Given the description of an element on the screen output the (x, y) to click on. 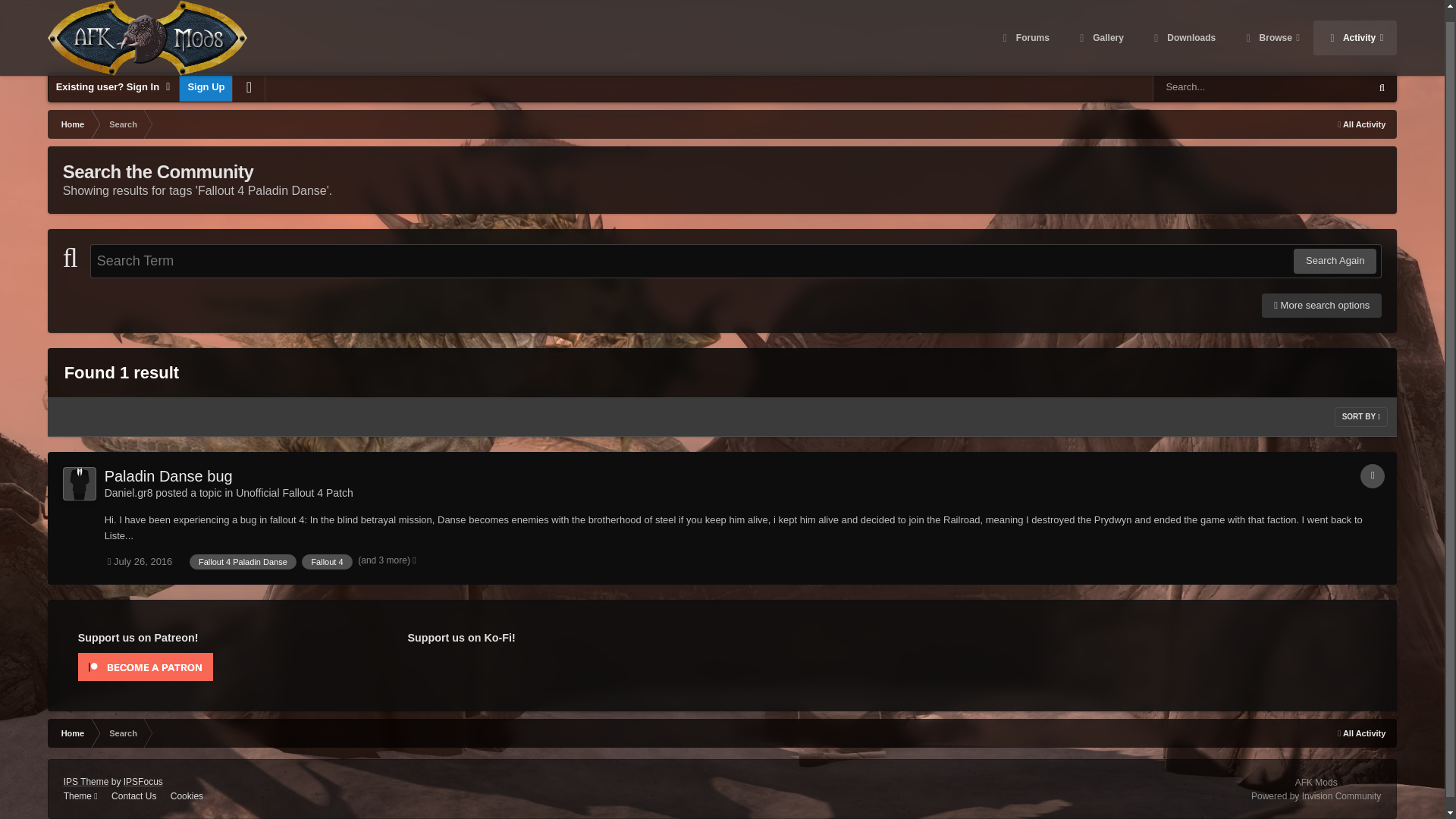
All Activity (1361, 123)
Customizer (248, 86)
Existing user? Sign In   (113, 86)
Sign Up (205, 86)
Invision Community (1315, 796)
Gallery (1099, 26)
Activity (1354, 26)
More search options (1321, 305)
Home (72, 123)
Home (72, 123)
Downloads (1182, 26)
Topic (1371, 476)
Search (122, 123)
Find other content tagged with 'Fallout 4 Paladin Danse' (243, 561)
Home (72, 733)
